Given the description of an element on the screen output the (x, y) to click on. 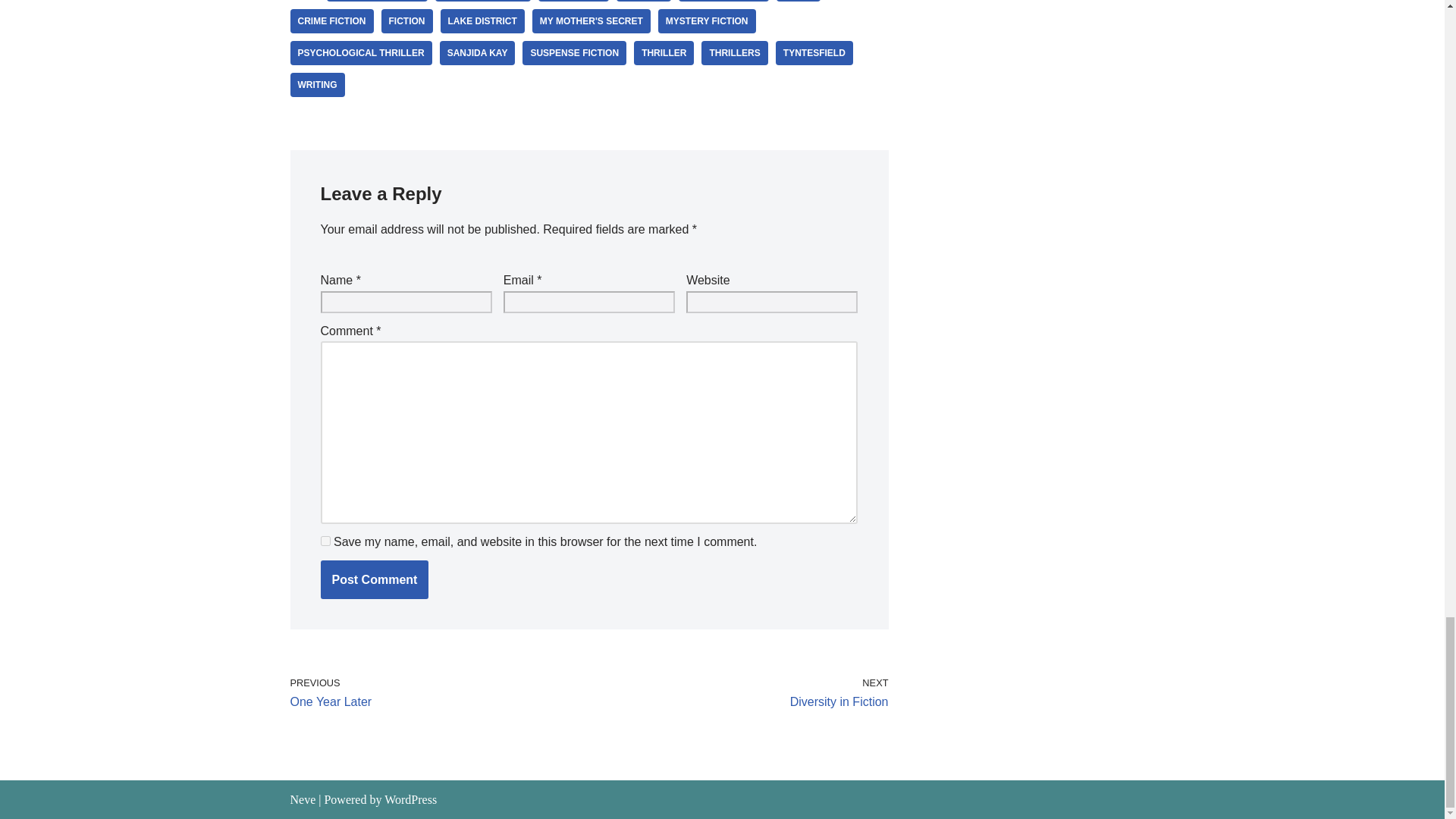
Bristol (643, 0)
book club (573, 0)
fiction (406, 21)
crime (798, 0)
Atlantic Books (483, 0)
mystery fiction (706, 21)
yes (325, 541)
Sanjida Kay (477, 52)
My Mother's Secret (591, 21)
Lake District (481, 21)
Post Comment (374, 579)
Psychological thriller (359, 52)
crime fiction (330, 21)
Corvus Books (723, 0)
Allen and Unwin (377, 0)
